Given the description of an element on the screen output the (x, y) to click on. 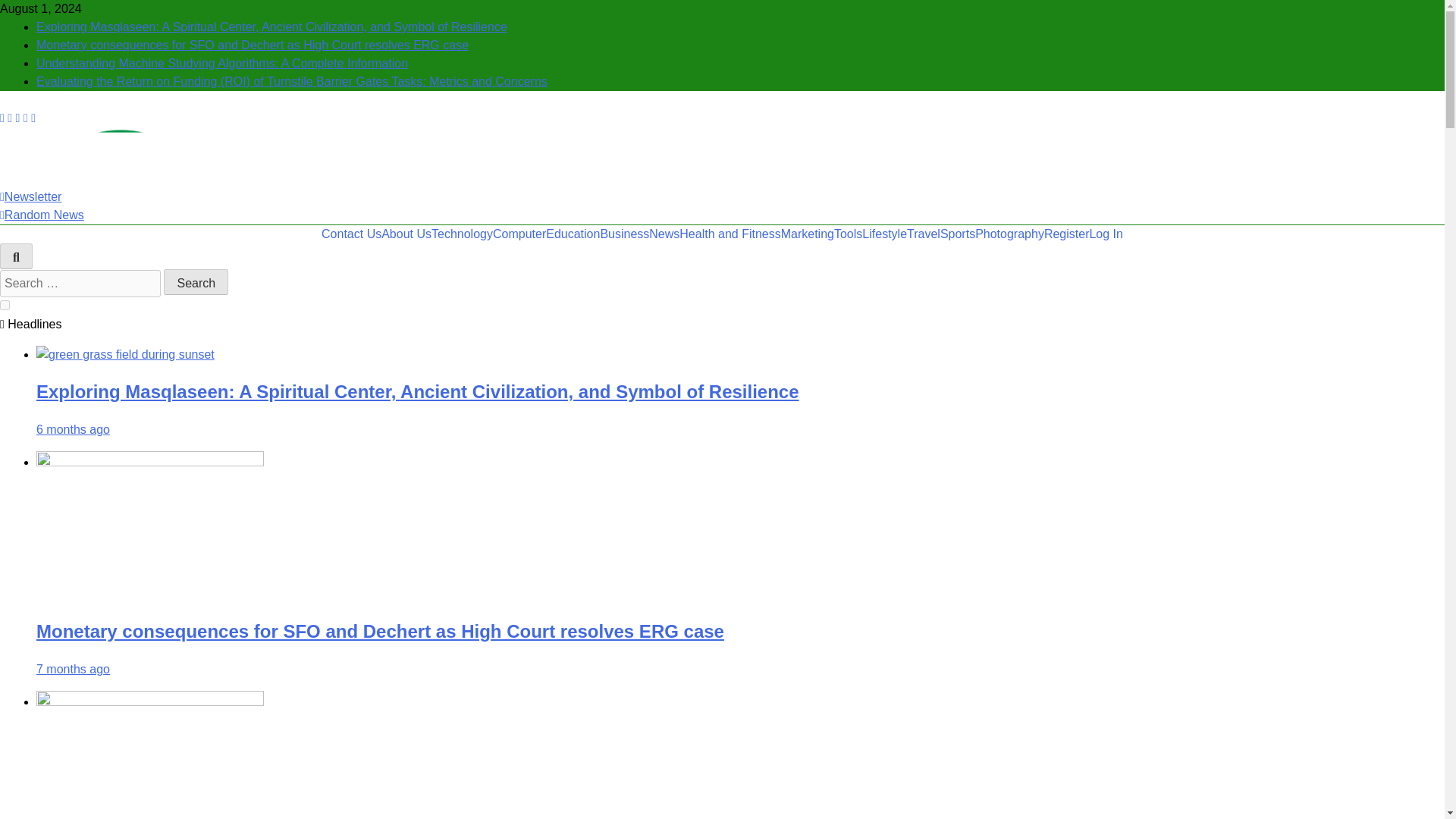
Search (195, 281)
6 months ago (73, 429)
Tools (847, 234)
Photography (1009, 234)
Computer (519, 234)
Search (195, 281)
Contact Us (351, 234)
on (5, 305)
Business (624, 234)
Random News (42, 214)
